Given the description of an element on the screen output the (x, y) to click on. 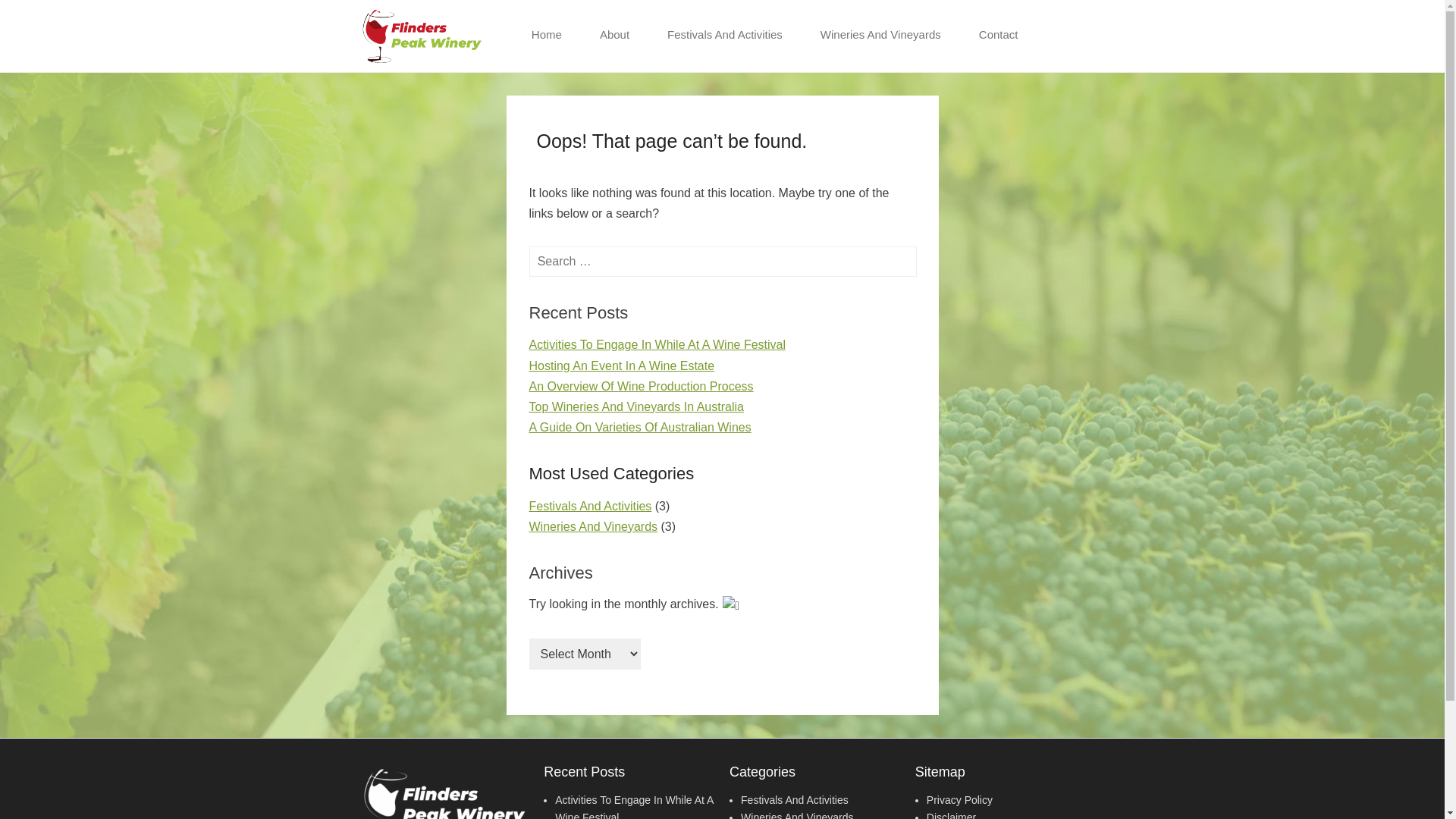
Festivals And Activities Element type: text (794, 799)
Festivals And Activities Element type: text (590, 505)
About Element type: text (614, 35)
Wineries And Vineyards Element type: text (593, 526)
Contact Element type: text (998, 35)
Festivals And Activities Element type: text (724, 35)
Privacy Policy Element type: text (959, 799)
A Guide On Varieties Of Australian Wines Element type: text (640, 426)
Activities To Engage In While At A Wine Festival Element type: text (657, 344)
Top Wineries And Vineyards In Australia Element type: text (636, 406)
Home Element type: text (546, 35)
Hosting An Event In A Wine Estate Element type: text (622, 365)
Wineries And Vineyards Element type: text (880, 35)
Skip to content Element type: text (551, 19)
Flinders Peak Winery Element type: text (576, 13)
An Overview Of Wine Production Process Element type: text (641, 385)
Search Element type: text (32, 17)
